Given the description of an element on the screen output the (x, y) to click on. 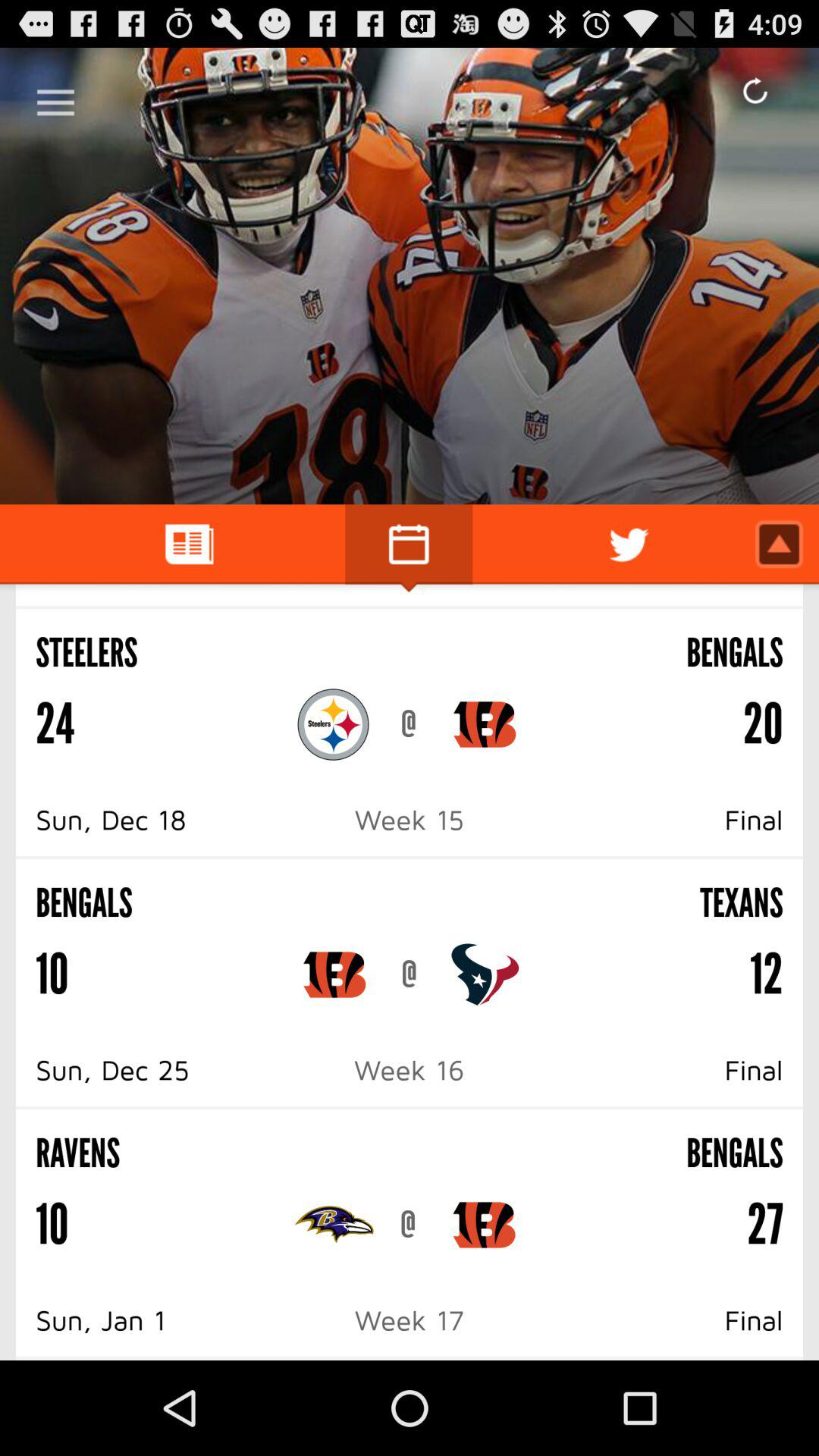
select the icon which is next to 24 (333, 725)
click on the button which is on the top right side of the page (755, 90)
